Given the description of an element on the screen output the (x, y) to click on. 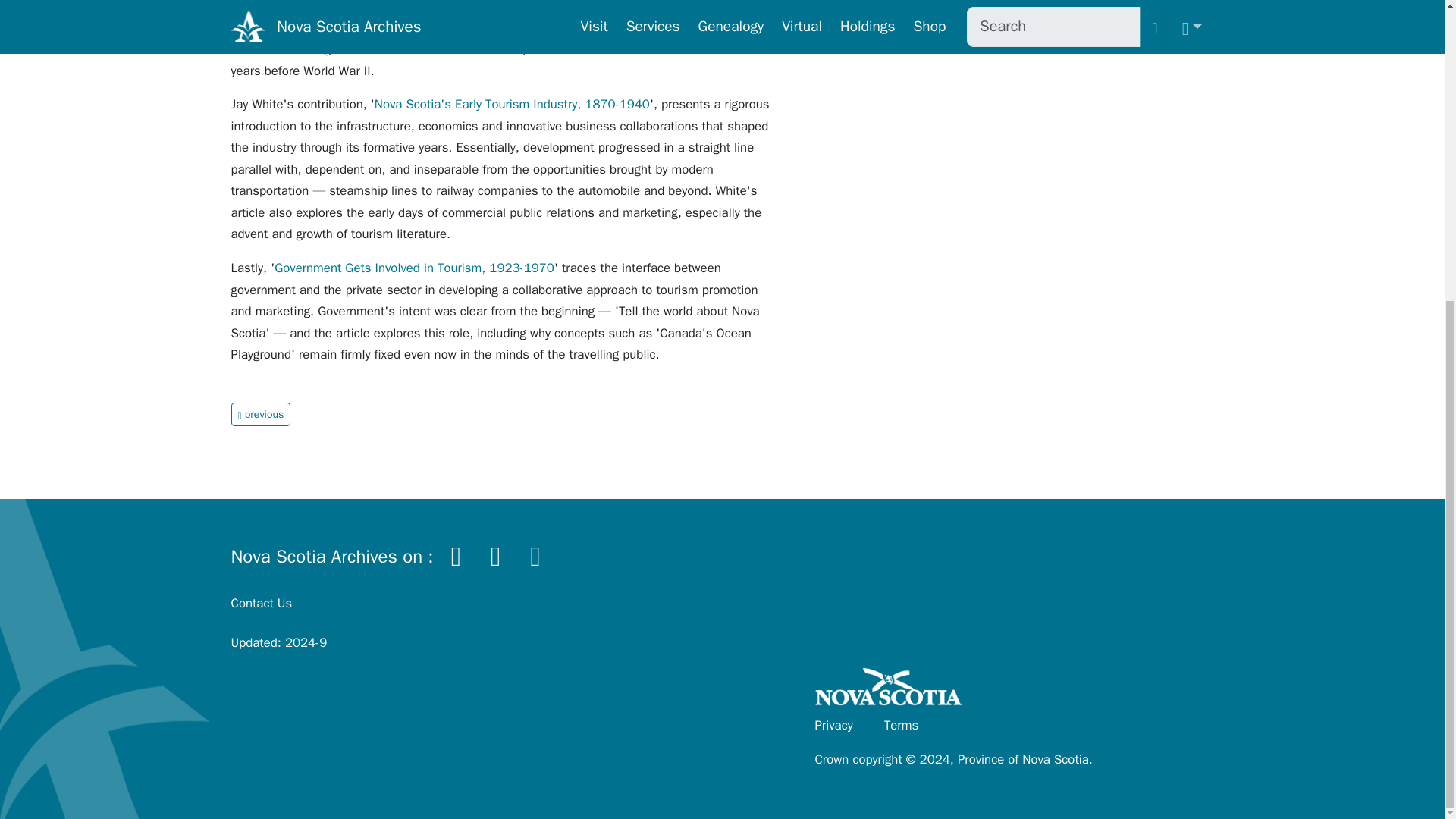
Government of Nova Scotia (888, 690)
Facebook (456, 553)
Instagram (495, 553)
Nova Scotia (888, 689)
YouTube (534, 553)
